Given the description of an element on the screen output the (x, y) to click on. 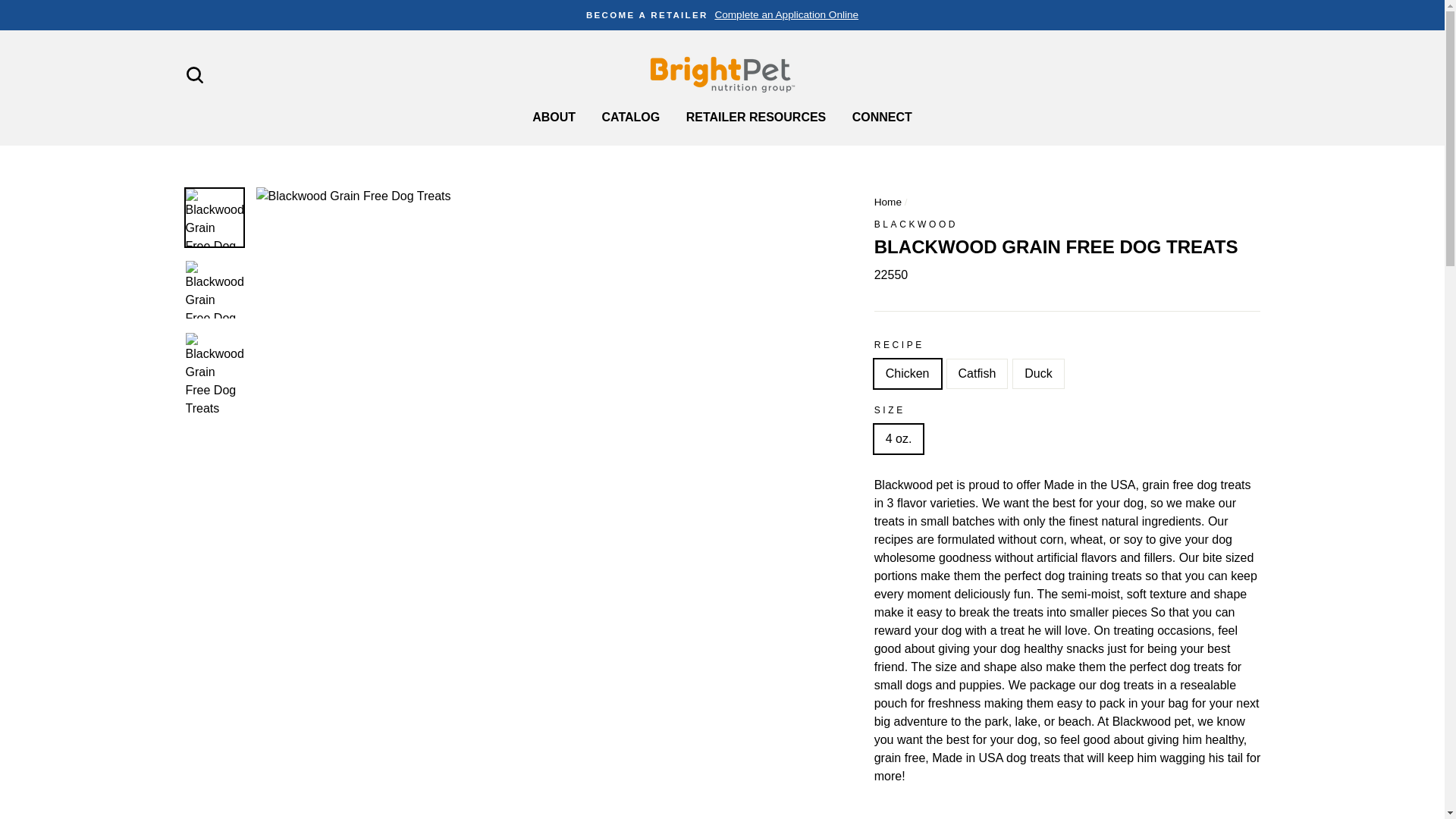
Back to the frontpage (888, 202)
